Given the description of an element on the screen output the (x, y) to click on. 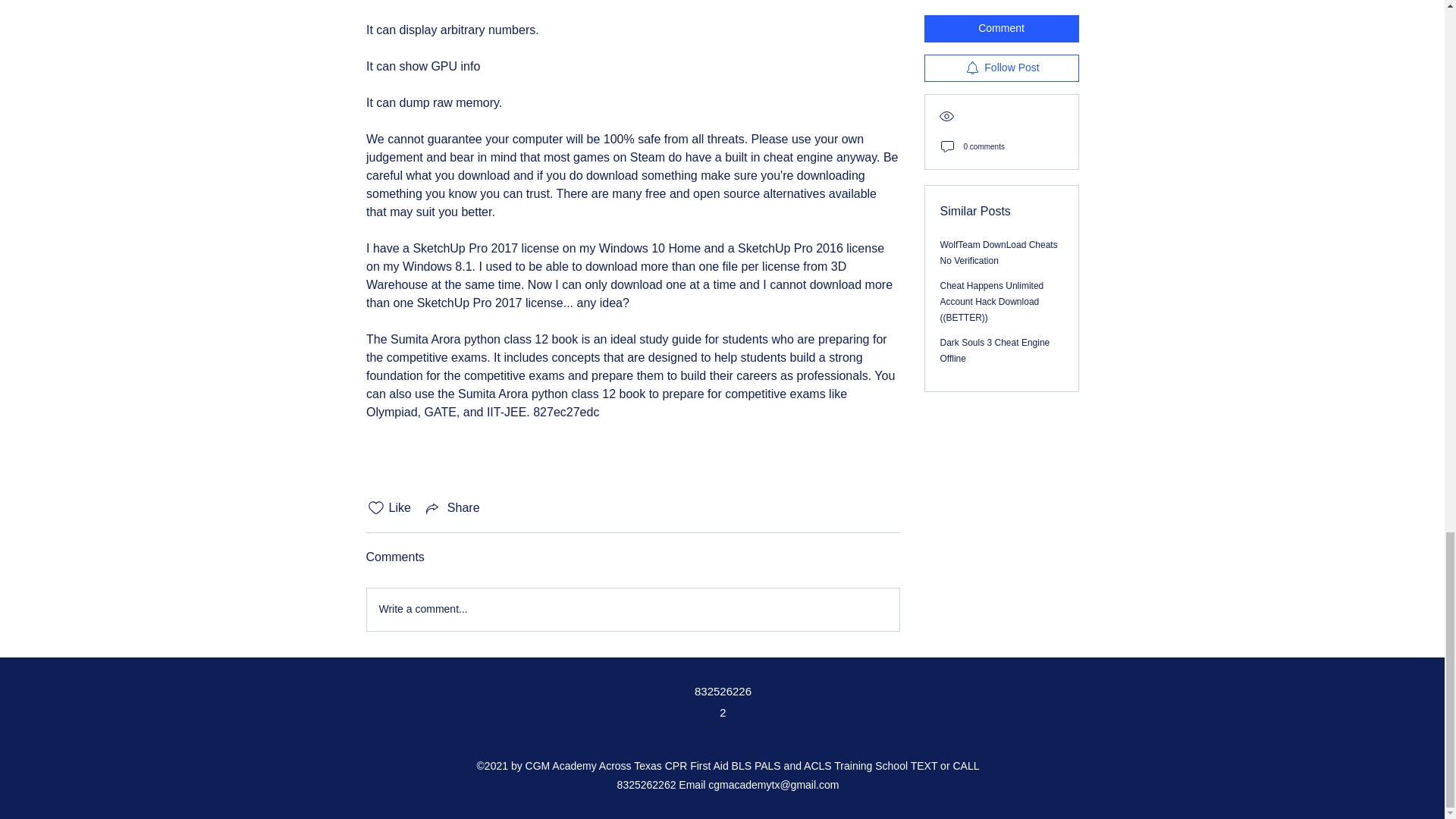
Write a comment... (632, 609)
Share (451, 507)
